Given the description of an element on the screen output the (x, y) to click on. 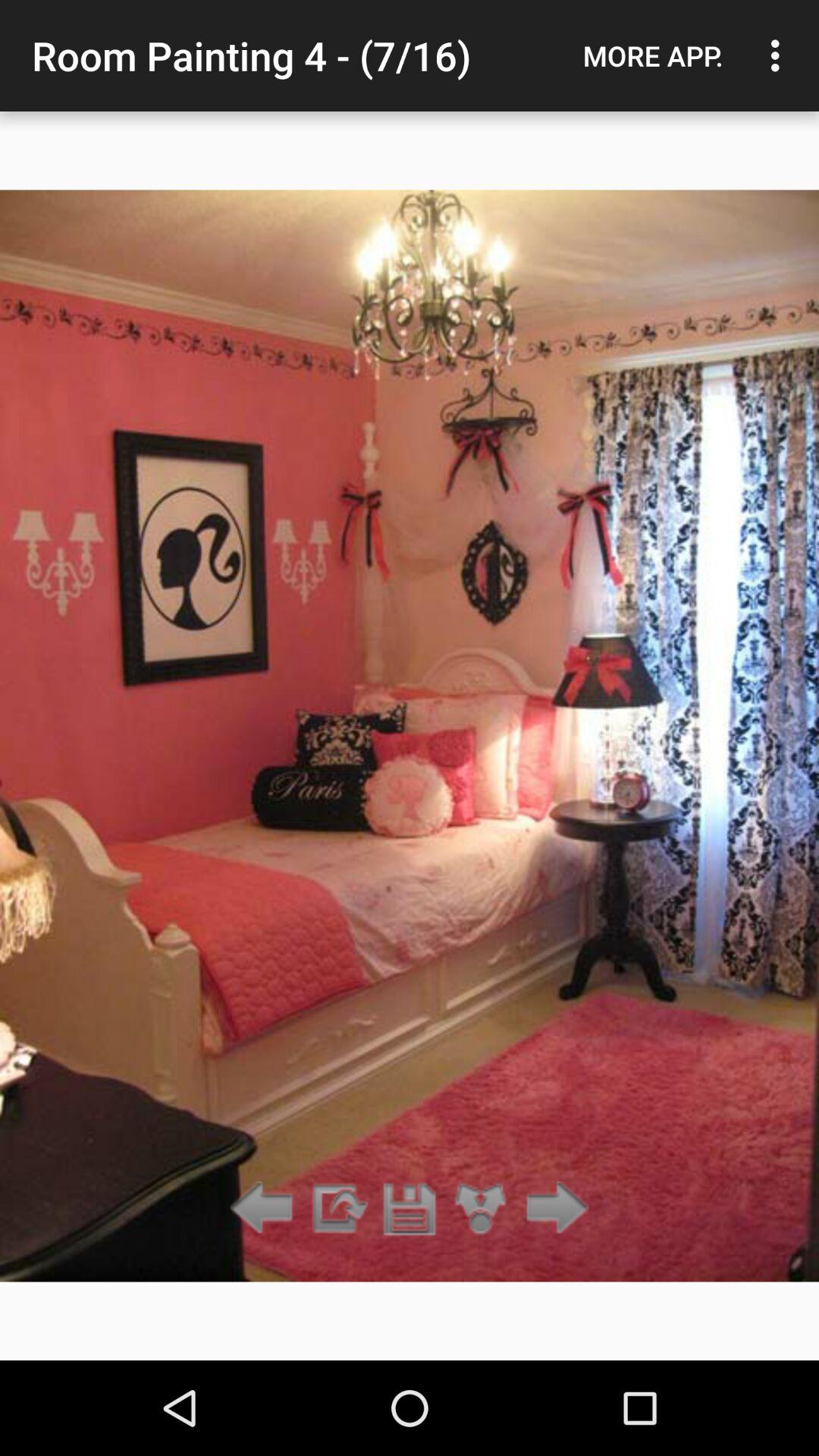
scroll until more app. (653, 55)
